Given the description of an element on the screen output the (x, y) to click on. 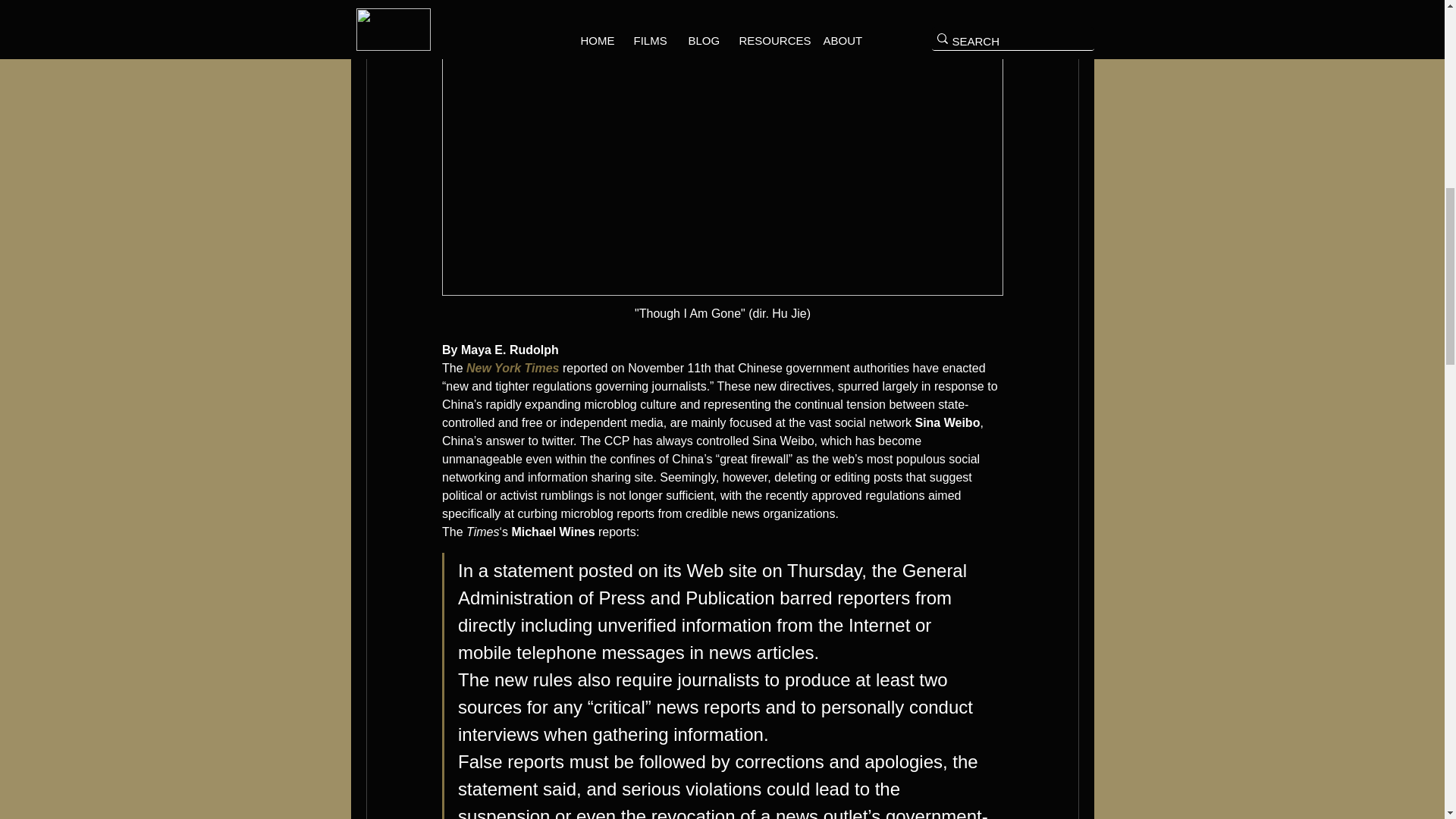
New York Times (512, 367)
